Given the description of an element on the screen output the (x, y) to click on. 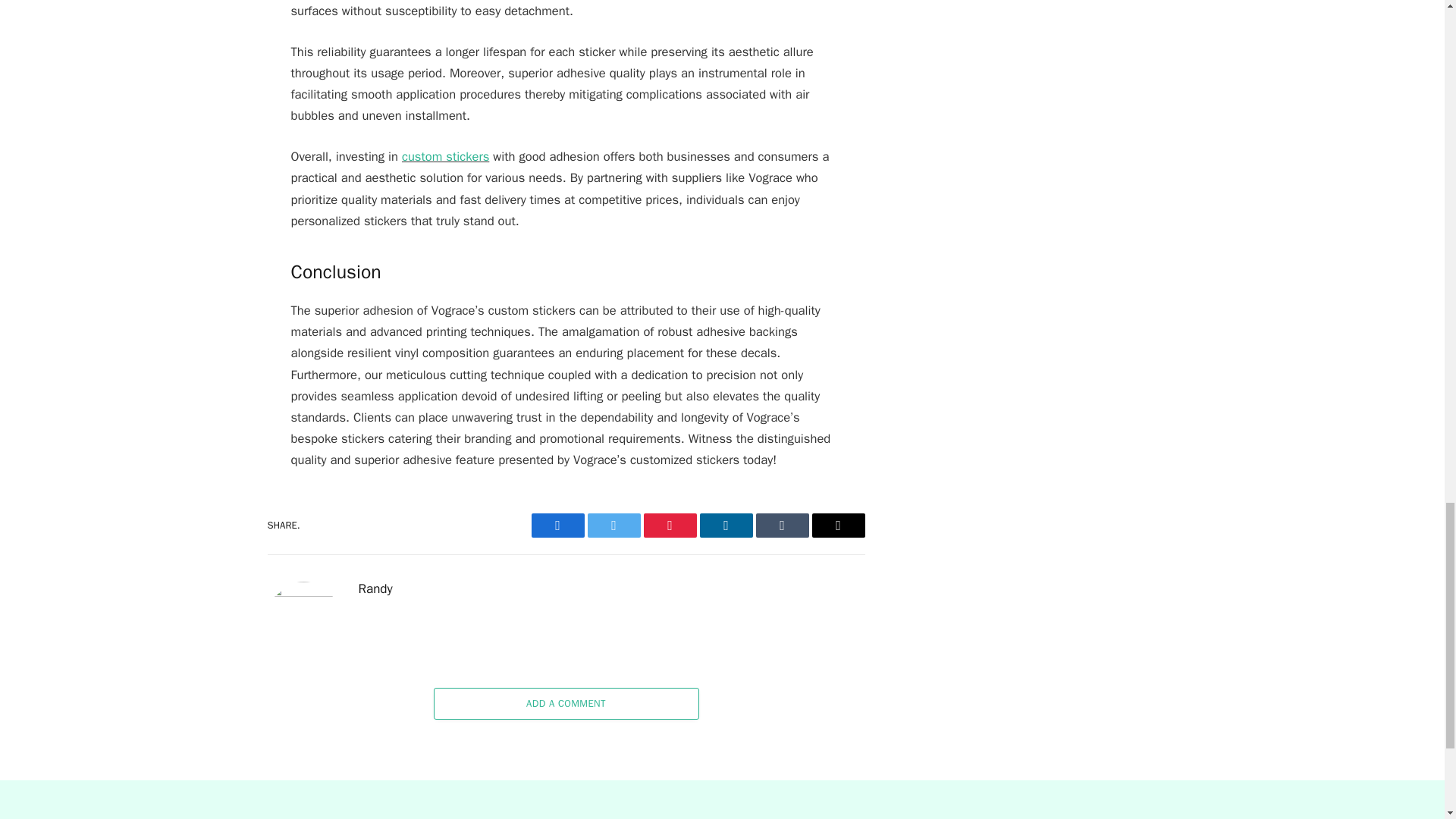
Facebook (557, 525)
Twitter (613, 525)
custom stickers (445, 156)
